Given the description of an element on the screen output the (x, y) to click on. 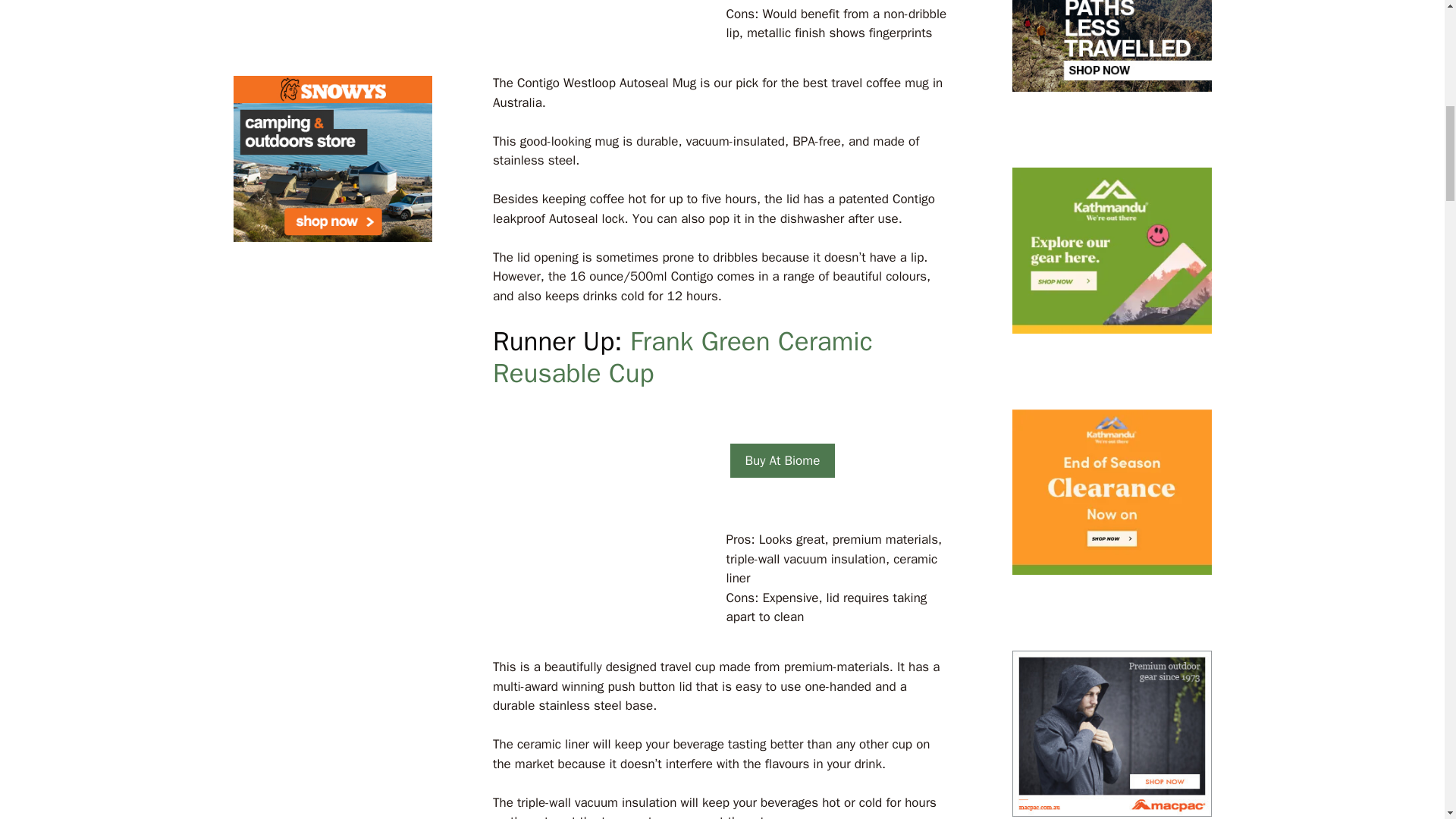
Frank Green Ceramic Reusable Cup (682, 356)
Buy At Biome (781, 460)
